Given the description of an element on the screen output the (x, y) to click on. 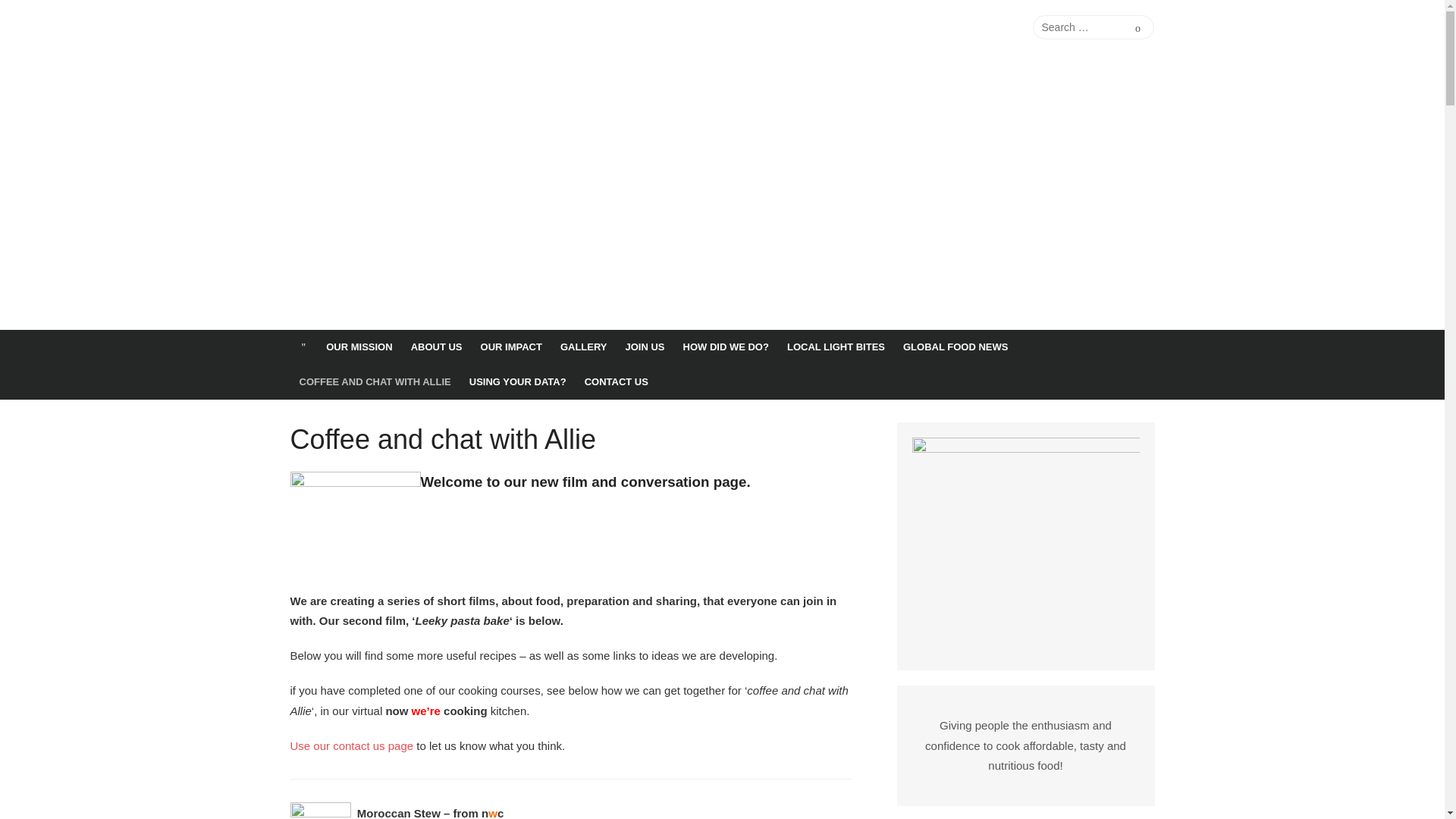
LOCAL LIGHT BITES (835, 347)
COFFEE AND CHAT WITH ALLIE (374, 381)
GLOBAL FOOD NEWS (954, 347)
OUR MISSION (359, 347)
USING YOUR DATA? (517, 381)
Search (1137, 27)
OUR IMPACT (511, 347)
GALLERY (583, 347)
CONTACT US (616, 381)
HOW DID WE DO? (725, 347)
